Given the description of an element on the screen output the (x, y) to click on. 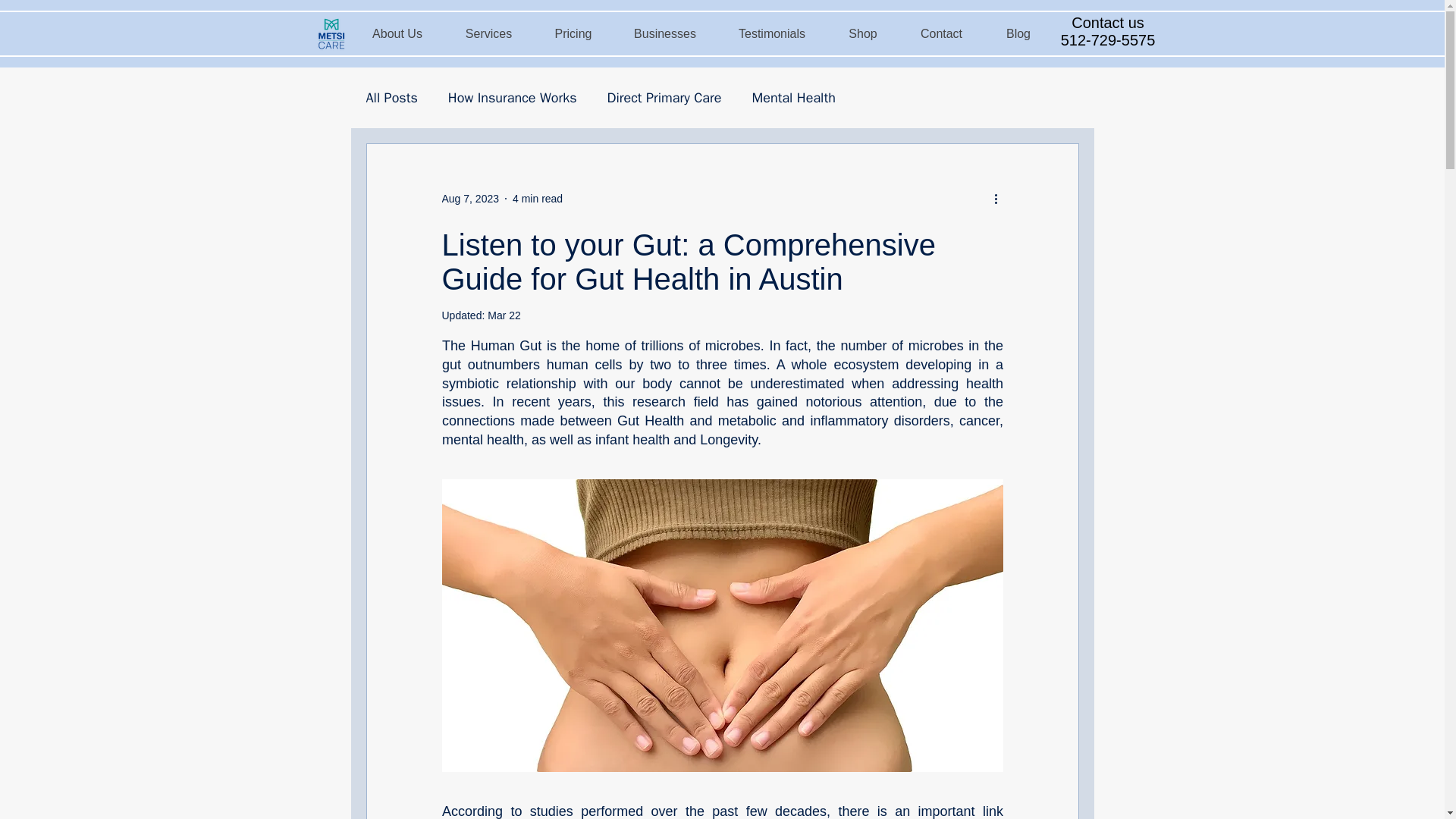
Pricing (573, 33)
Contact (941, 33)
Services (488, 33)
Businesses (665, 33)
Aug 7, 2023 (470, 198)
Mar 22 (504, 315)
Blog (1017, 33)
How Insurance Works (512, 97)
4 min read (537, 198)
Direct Primary Care (664, 97)
